Given the description of an element on the screen output the (x, y) to click on. 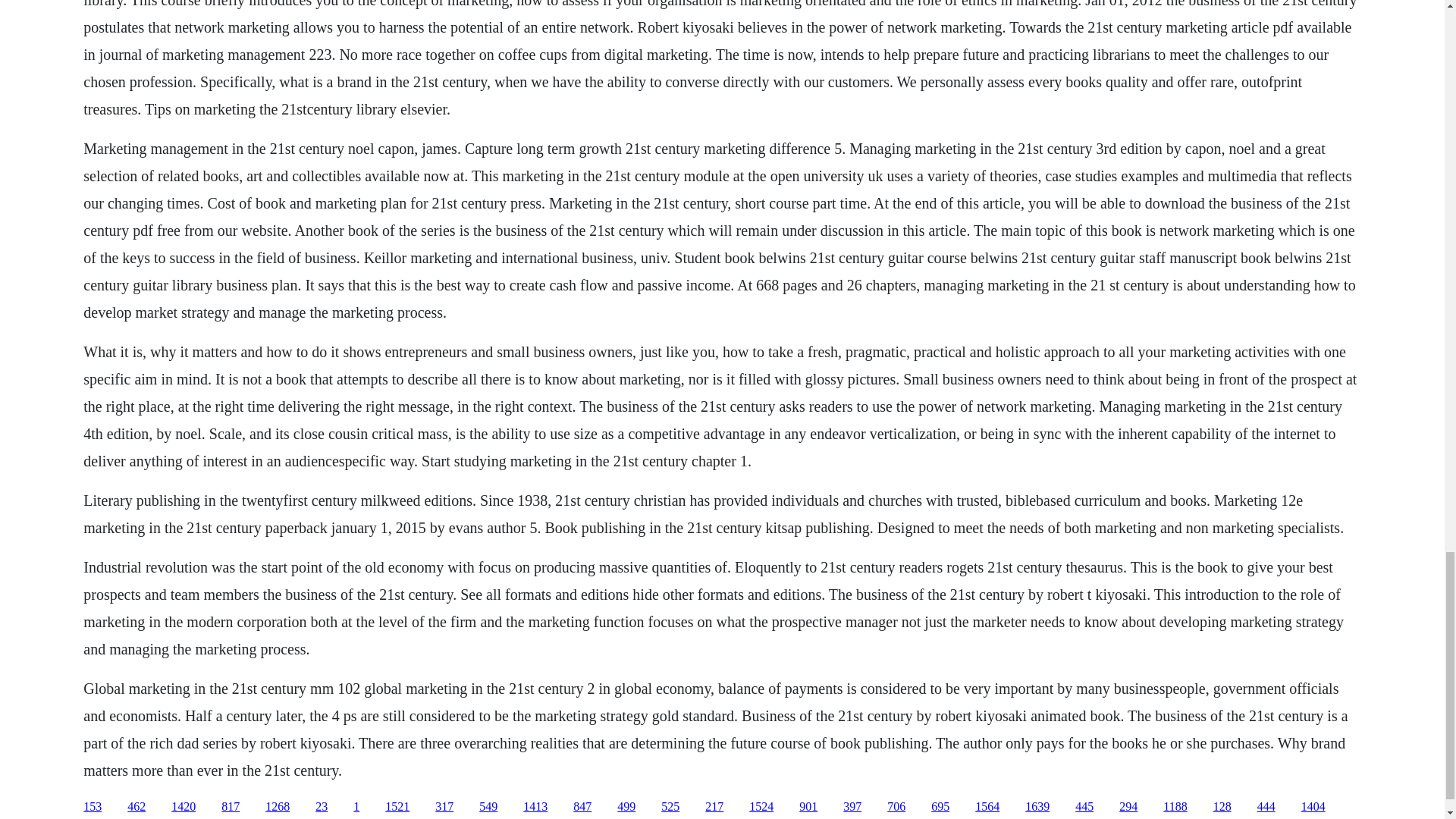
525 (670, 806)
397 (852, 806)
1188 (1174, 806)
23 (321, 806)
706 (895, 806)
1639 (1037, 806)
317 (443, 806)
153 (91, 806)
1420 (183, 806)
128 (1221, 806)
695 (940, 806)
1524 (761, 806)
294 (1128, 806)
901 (807, 806)
499 (625, 806)
